Given the description of an element on the screen output the (x, y) to click on. 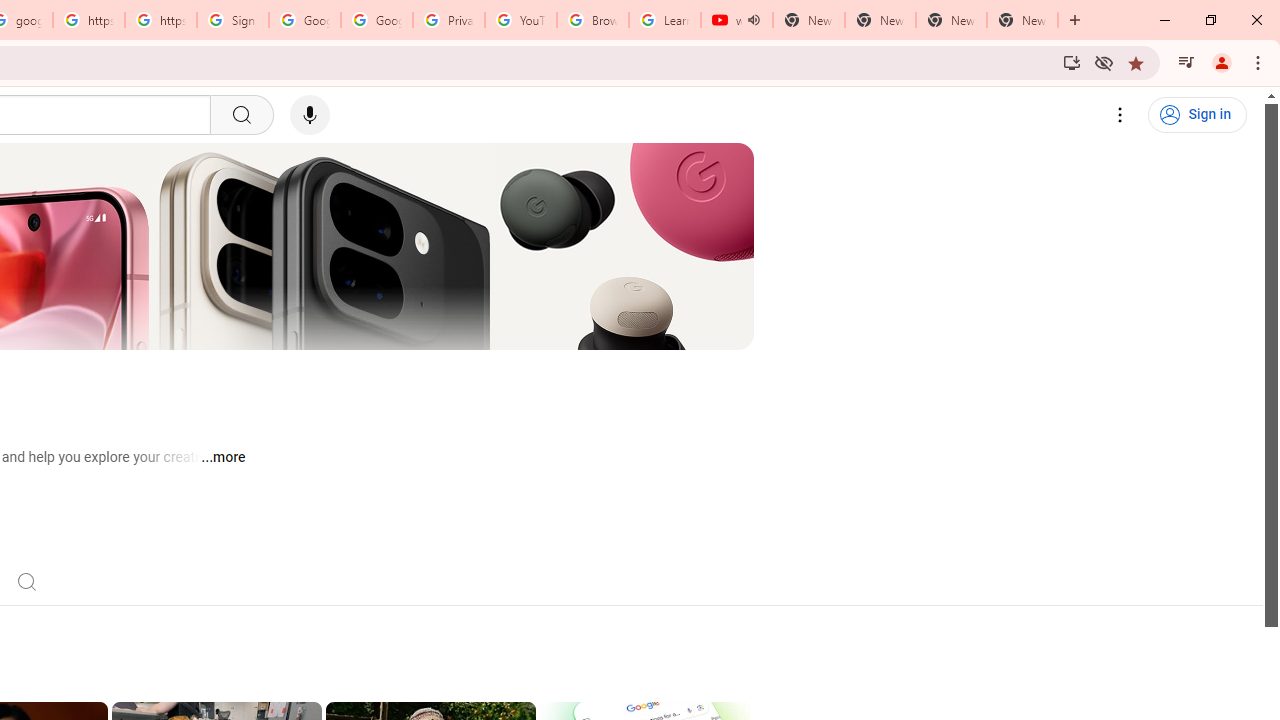
Sign in - Google Accounts (232, 20)
Install YouTube (1071, 62)
YouTube (520, 20)
New Tab (1022, 20)
https://scholar.google.com/ (88, 20)
Search with your voice (309, 115)
https://scholar.google.com/ (161, 20)
